Given the description of an element on the screen output the (x, y) to click on. 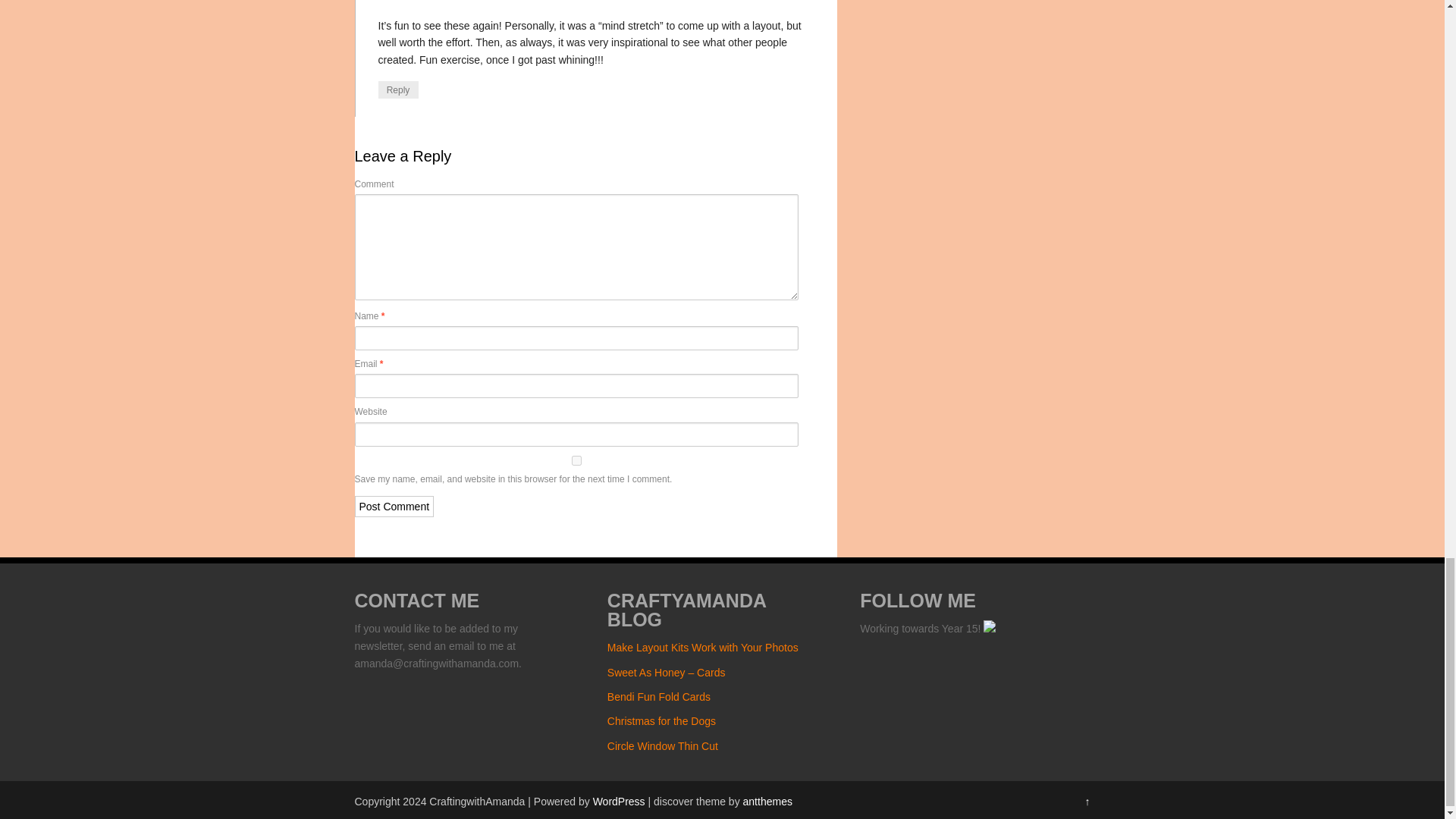
Post Comment (394, 506)
Reply (397, 89)
Post Comment (394, 506)
yes (577, 460)
